Given the description of an element on the screen output the (x, y) to click on. 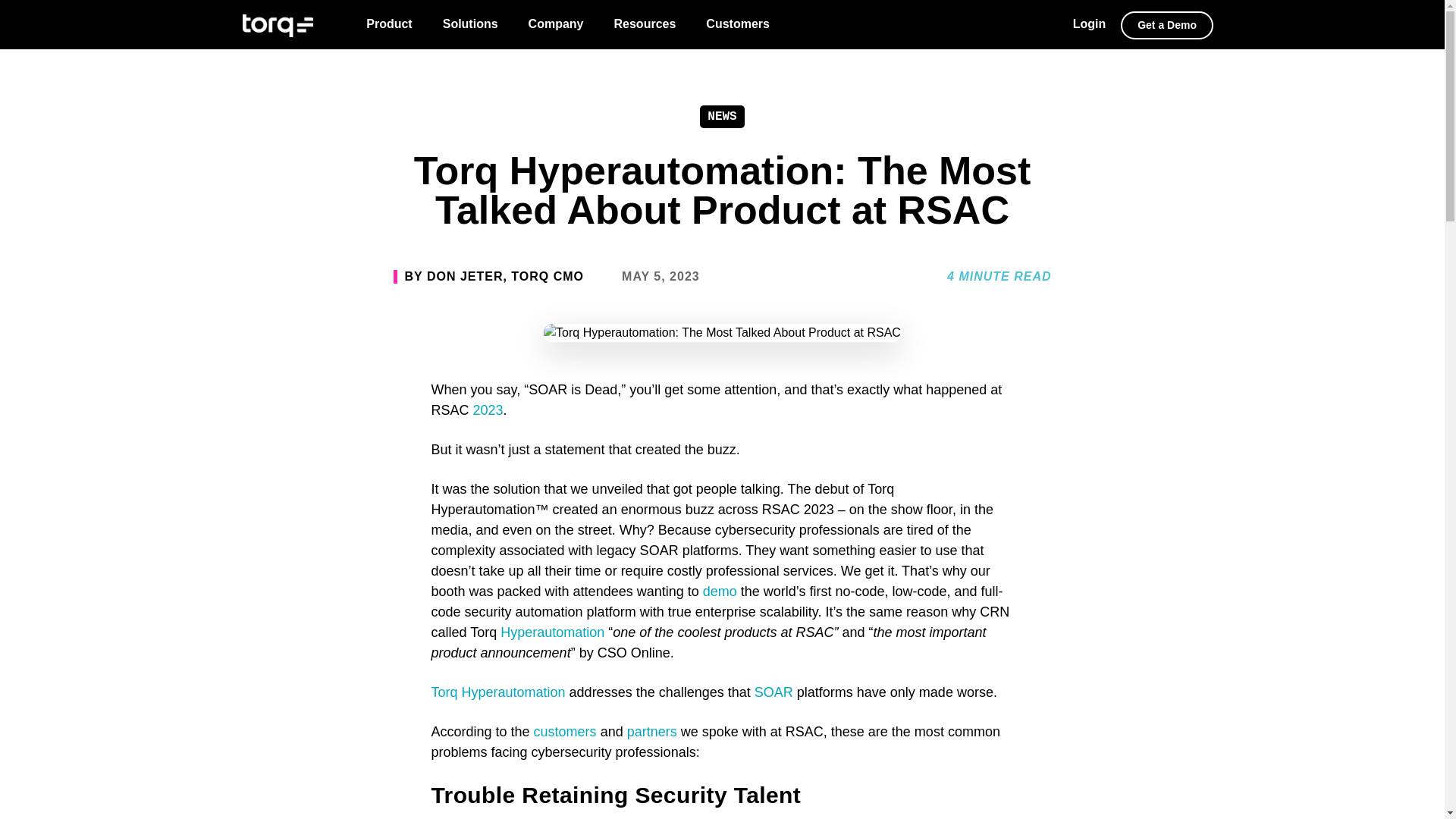
Resources (644, 24)
Demo (1166, 25)
Product (388, 24)
Company (555, 24)
Solutions (470, 24)
